Given the description of an element on the screen output the (x, y) to click on. 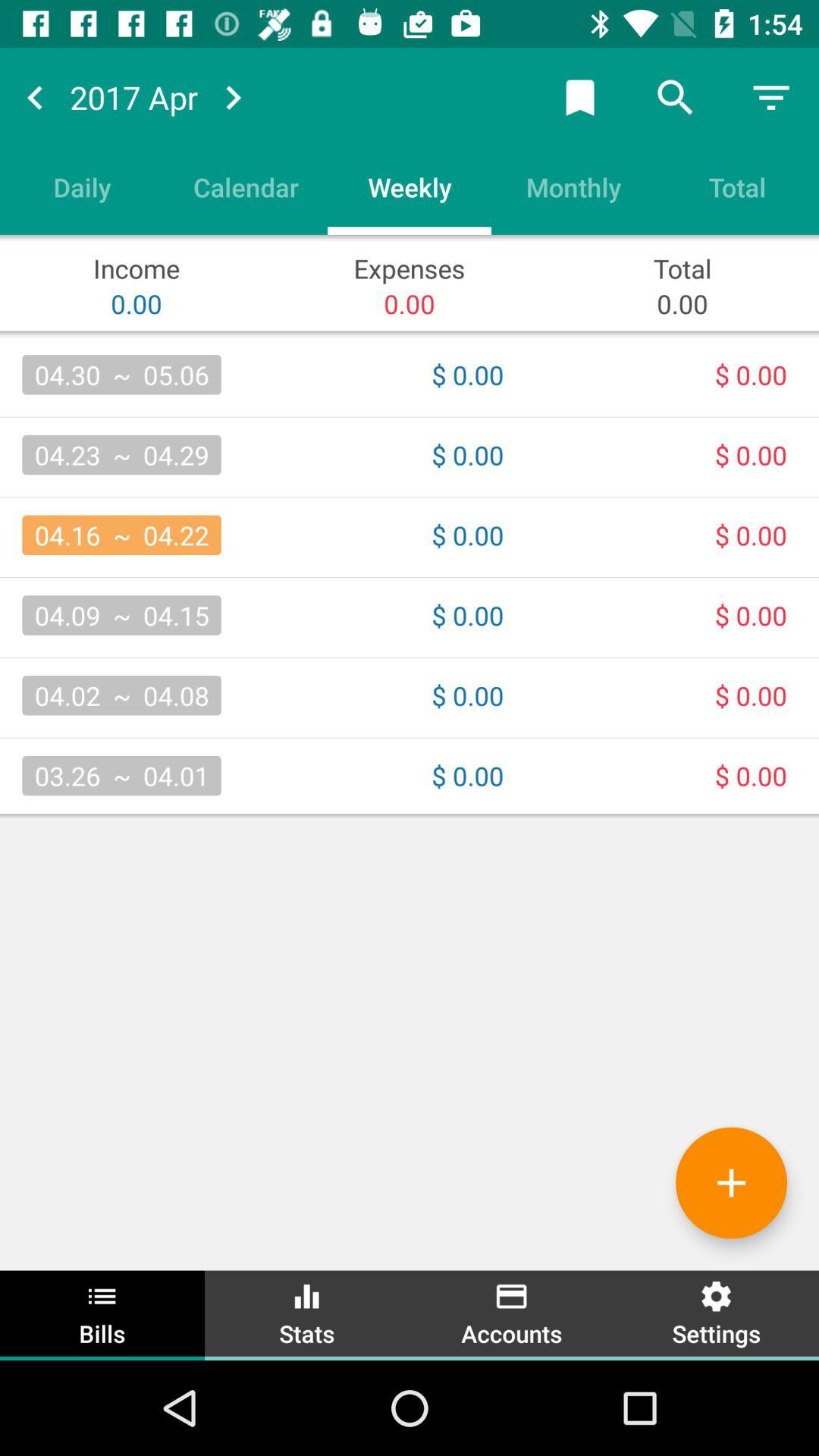
choose icon to the left of monthly (409, 186)
